Given the description of an element on the screen output the (x, y) to click on. 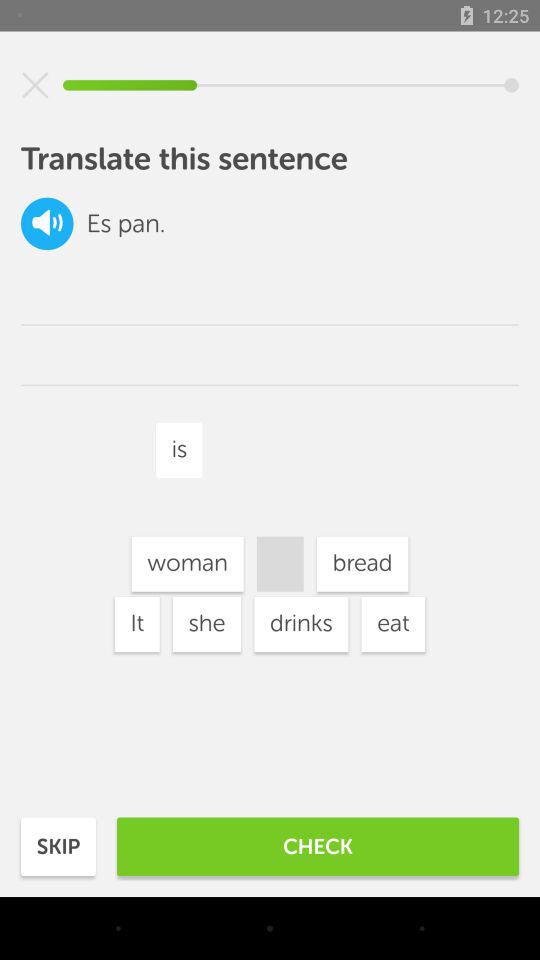
turn off woman icon (187, 563)
